Given the description of an element on the screen output the (x, y) to click on. 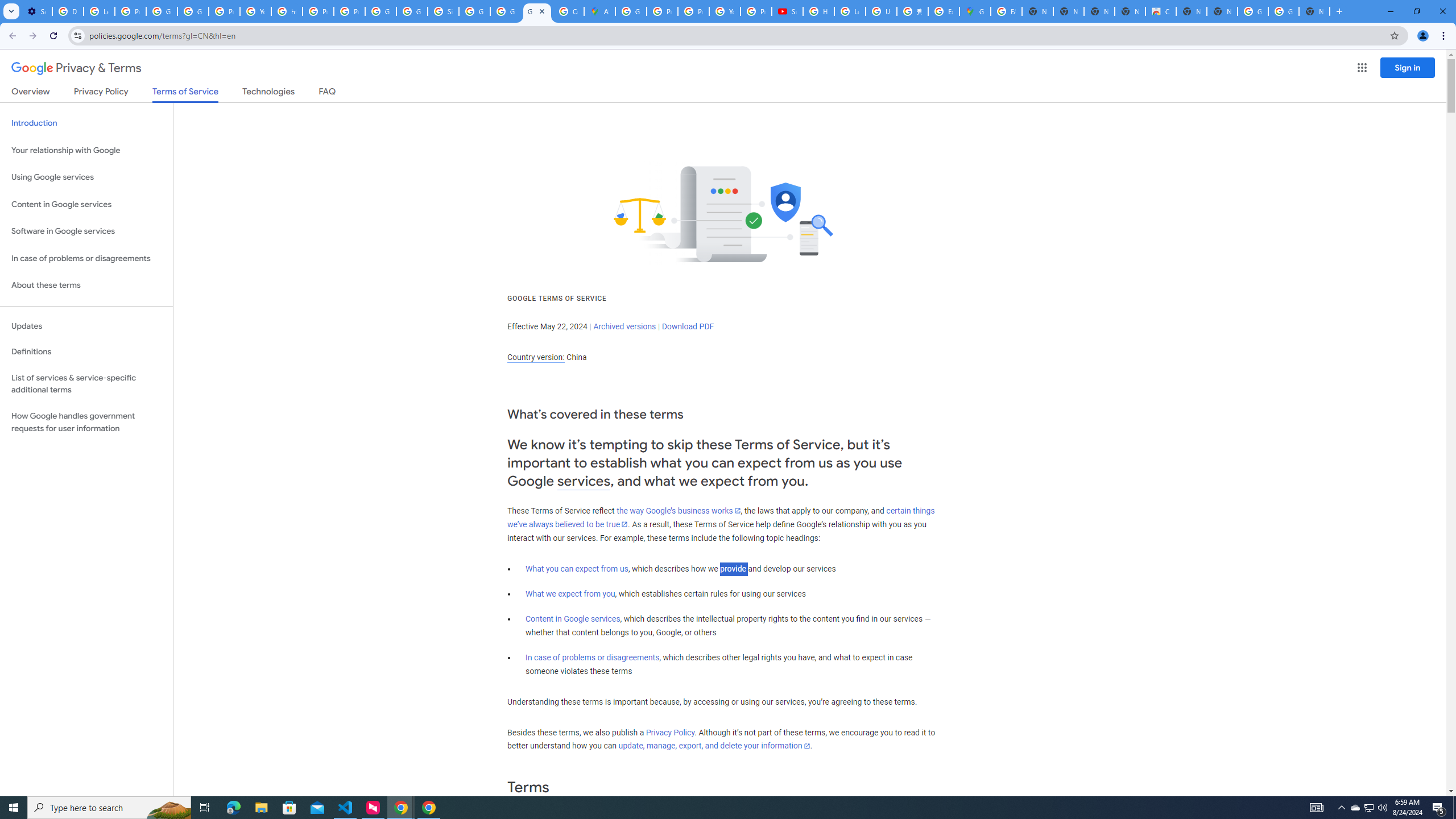
What we expect from you (570, 593)
Google Images (1283, 11)
Subscriptions - YouTube (787, 11)
Privacy Policy (669, 732)
Updates (86, 325)
YouTube (255, 11)
Using Google services (86, 176)
Settings - On startup (36, 11)
Google Account Help (161, 11)
New Tab (1314, 11)
Privacy Help Center - Policies Help (662, 11)
